Given the description of an element on the screen output the (x, y) to click on. 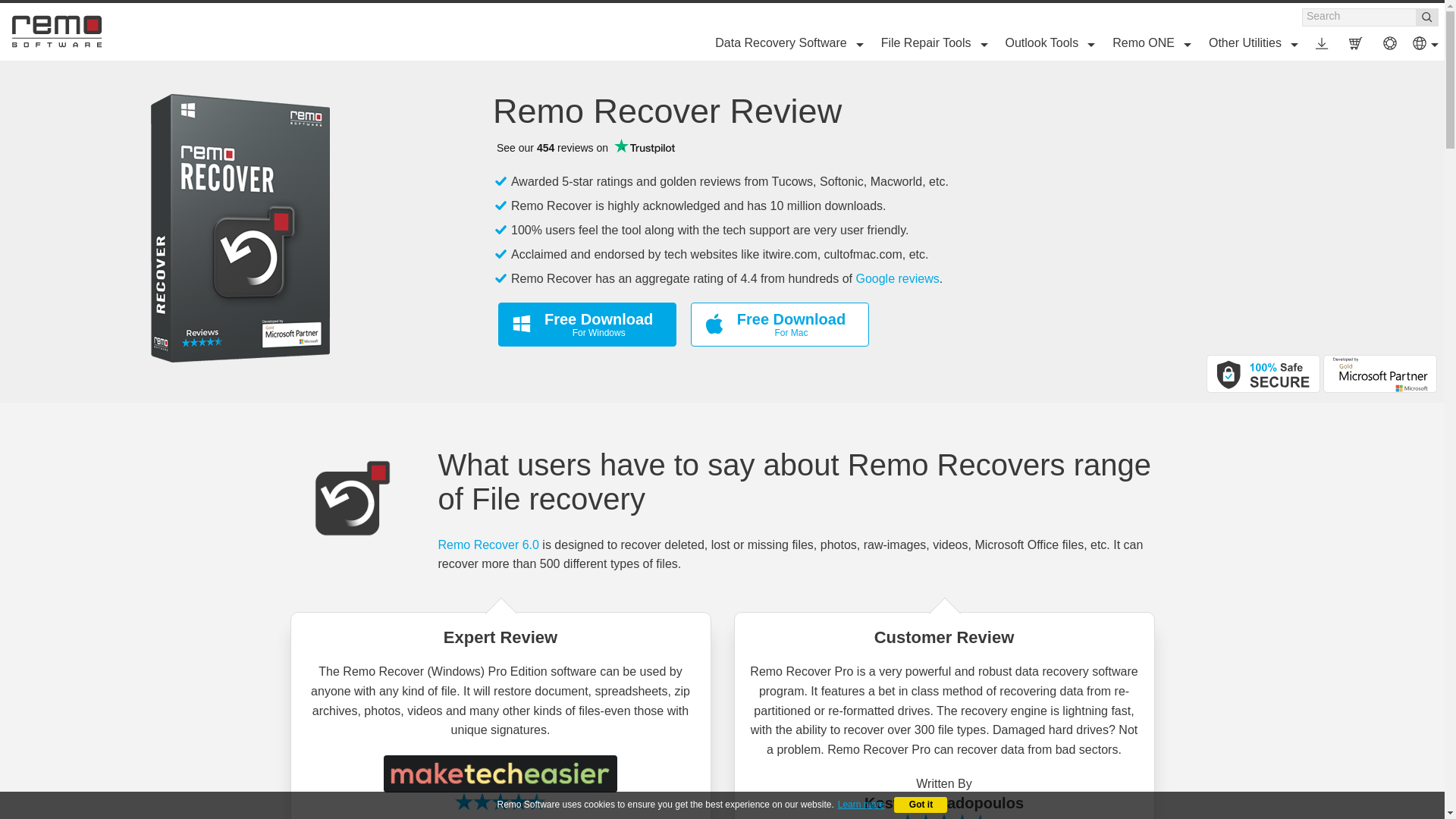
File Repair Tools (931, 42)
Remo Software (56, 31)
Data Recovery Software (786, 42)
Customer reviews powered by Trustpilot (585, 147)
Outlook Tools (1048, 42)
